Given the description of an element on the screen output the (x, y) to click on. 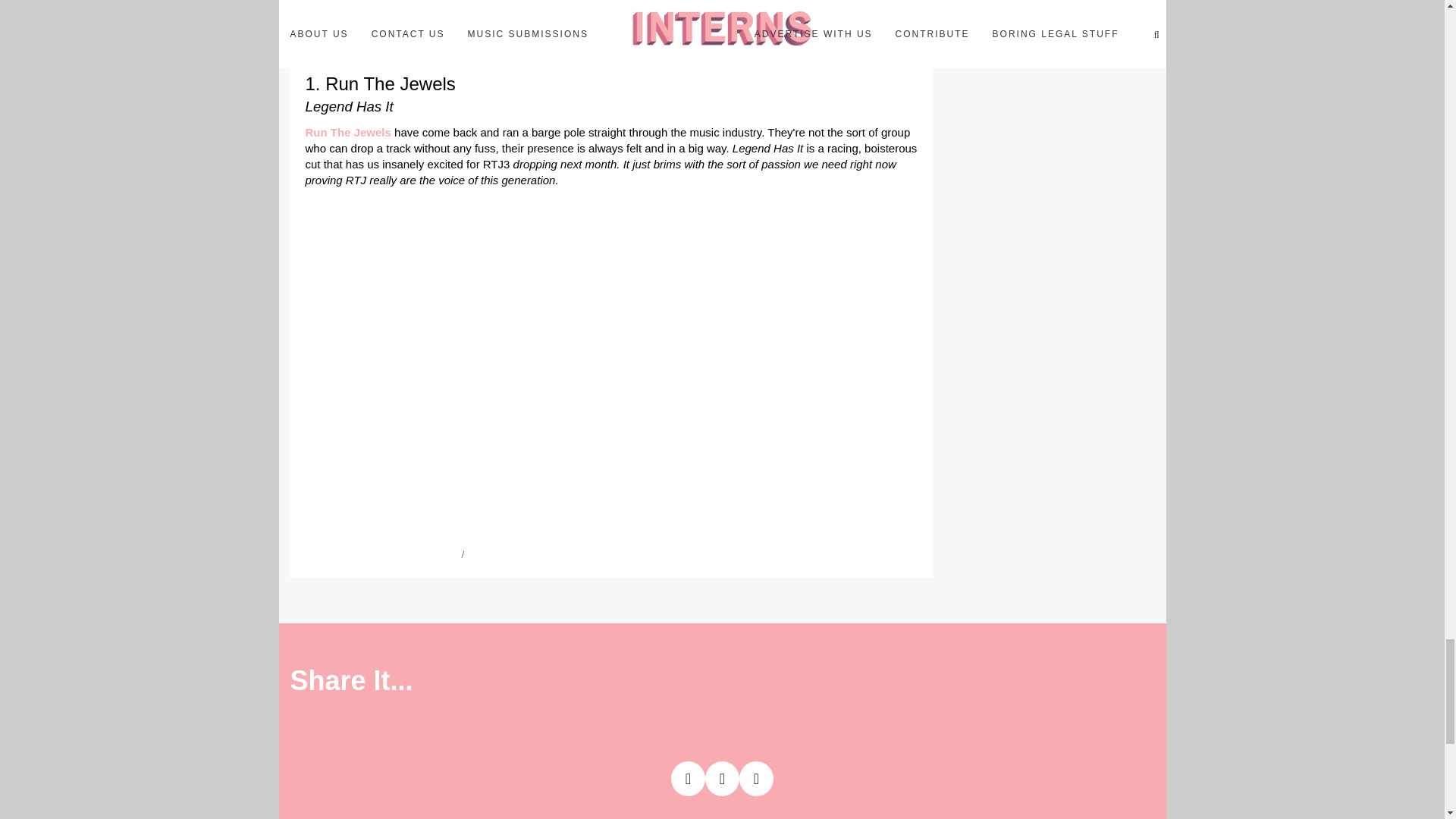
10 songs you need to hear this week (381, 554)
Run The Jewels (347, 132)
new music (489, 554)
